Given the description of an element on the screen output the (x, y) to click on. 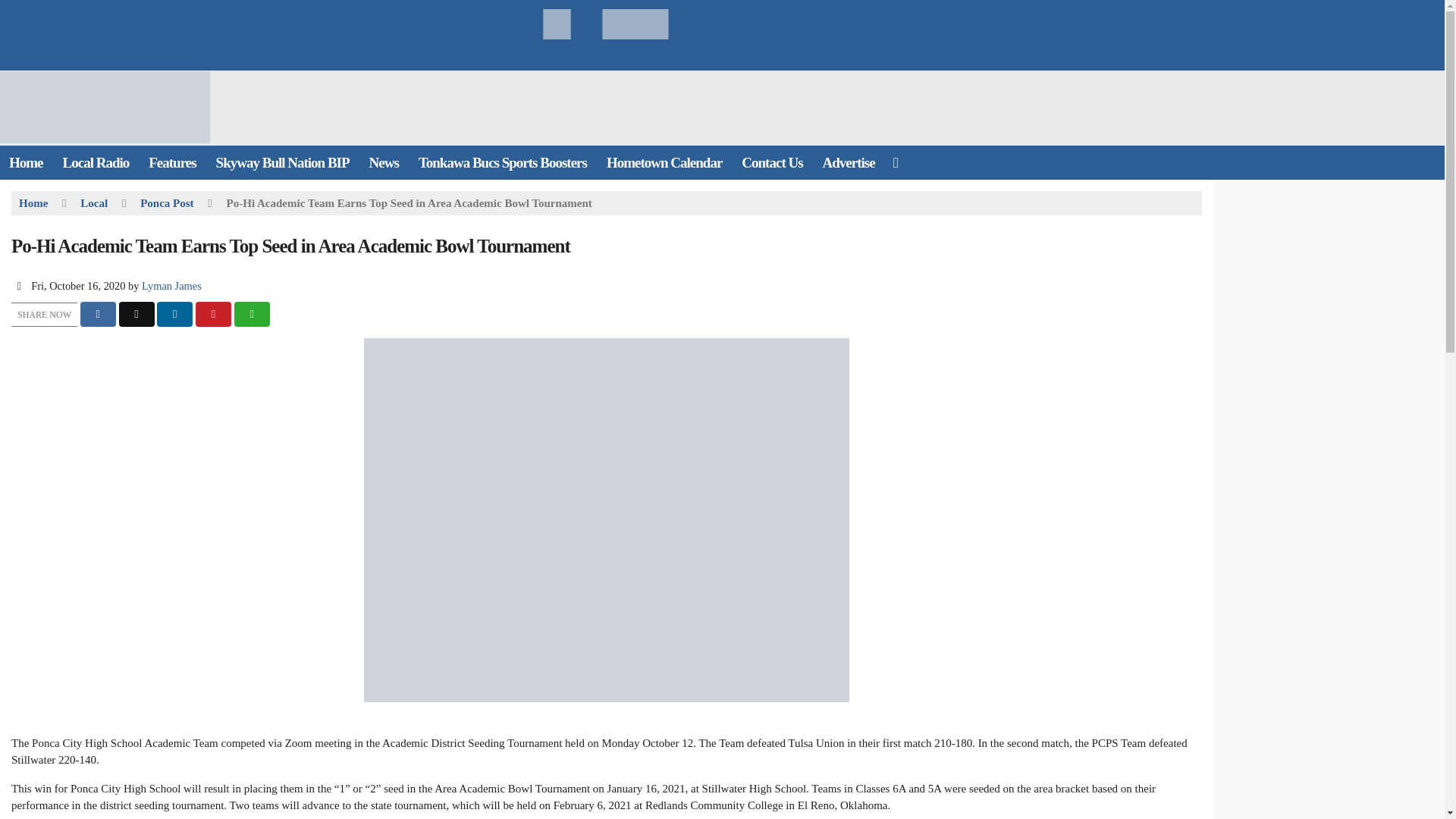
Posts by Lyman James (171, 285)
Share to Facebook (98, 314)
Share to Pinterest (213, 314)
Share via E-Mail (251, 314)
Share to X (135, 314)
Share to LinkedIn (174, 314)
